Given the description of an element on the screen output the (x, y) to click on. 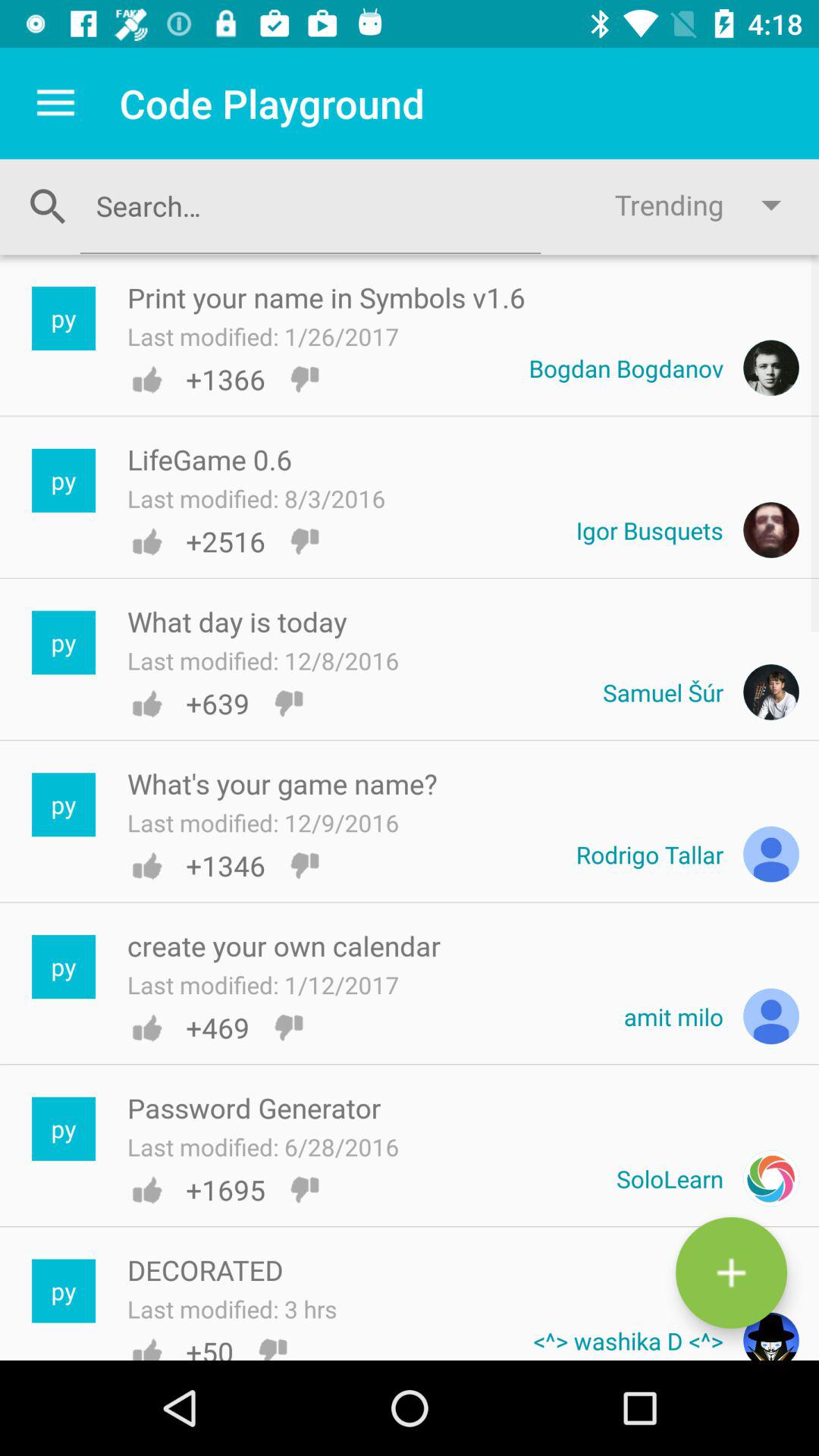
add more (731, 1272)
